Given the description of an element on the screen output the (x, y) to click on. 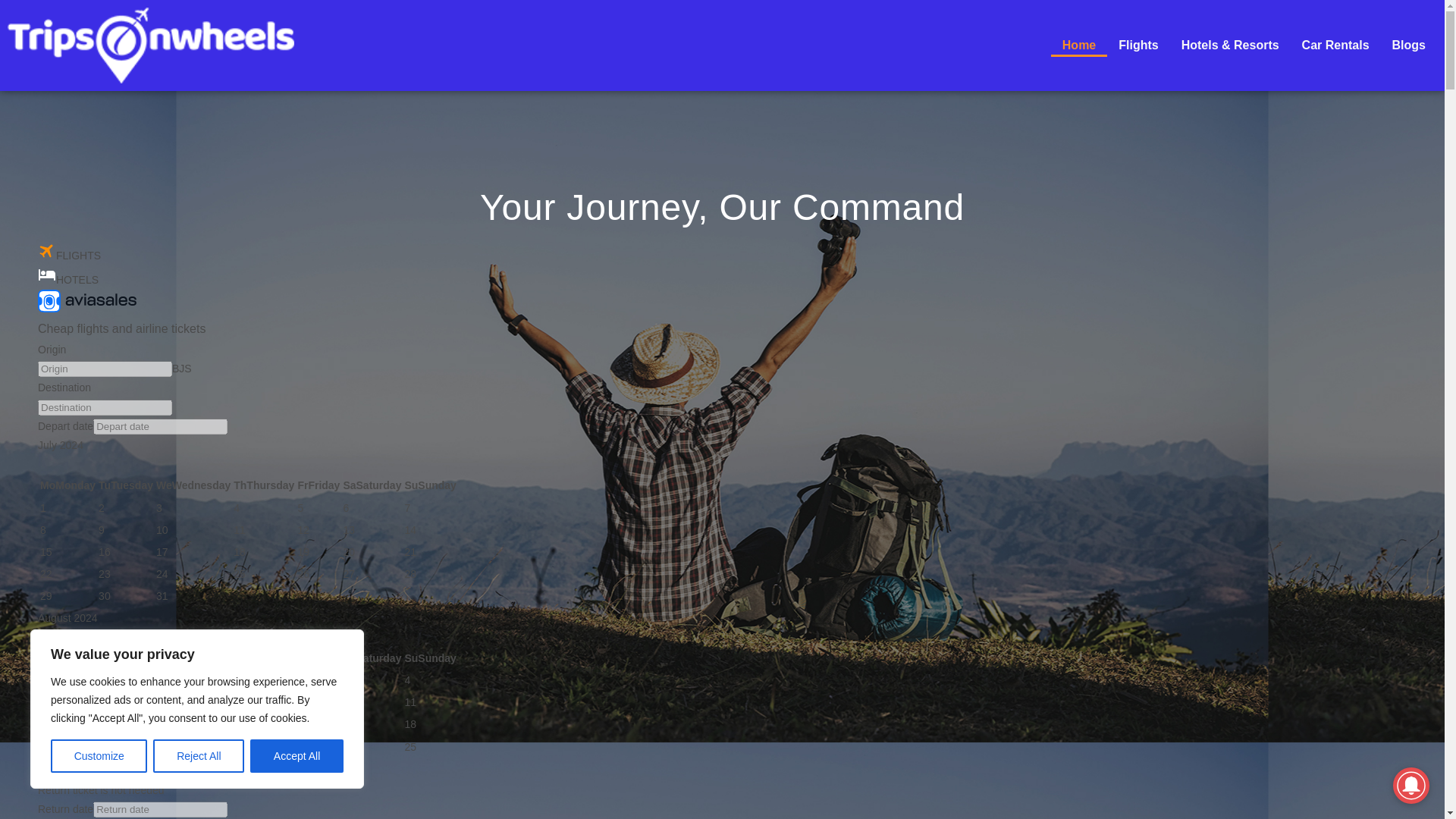
Blogs (1408, 45)
Home (1078, 45)
Accept All (296, 756)
Flights (1137, 45)
Car Rentals (1335, 45)
Reject All (198, 756)
Customize (98, 756)
